Given the description of an element on the screen output the (x, y) to click on. 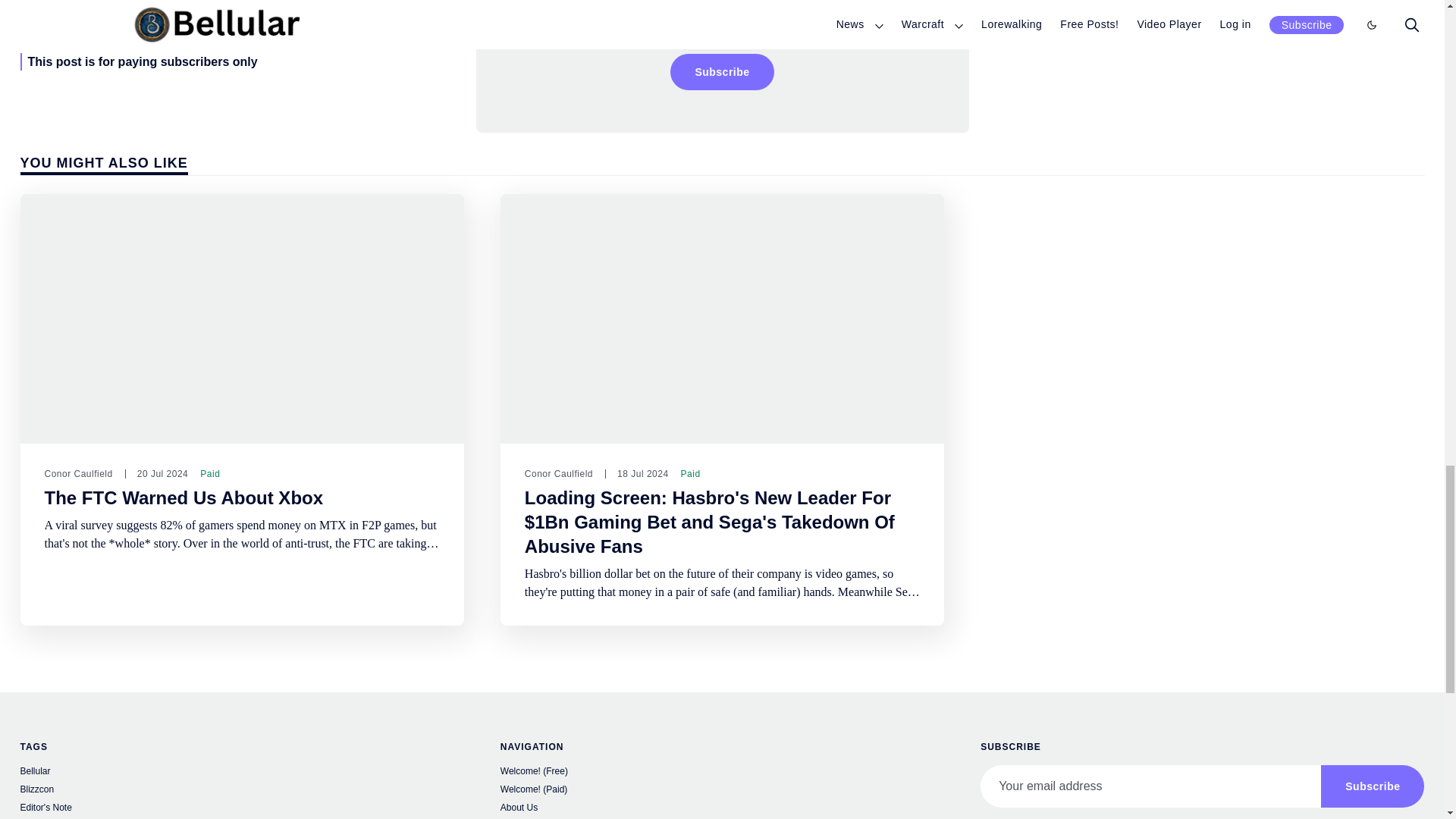
The FTC Warned Us About Xbox (183, 497)
Conor Caulfield (558, 473)
Conor Caulfield (77, 473)
Subscribe (721, 72)
Editor's Note (241, 808)
Blizzcon (241, 790)
Bellular (241, 772)
